Given the description of an element on the screen output the (x, y) to click on. 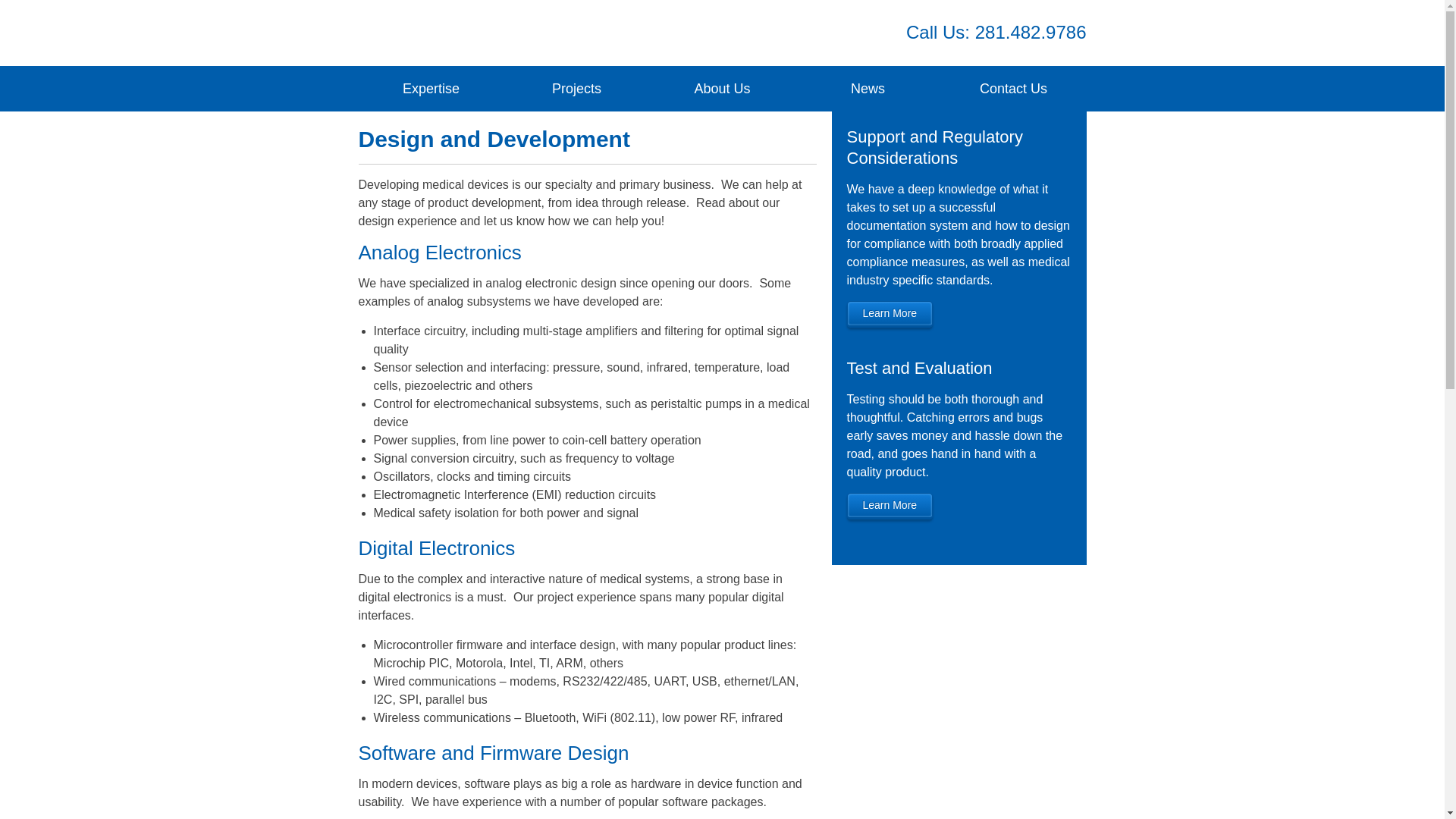
Projects (576, 88)
News (867, 88)
Learn More (889, 314)
Cooper Consulting Service (602, 32)
Learn More (889, 506)
Skip to content (72, 88)
Skip to content (72, 88)
Expertise (430, 88)
Contact Us (1013, 88)
Cooper Consulting Service (602, 32)
